Given the description of an element on the screen output the (x, y) to click on. 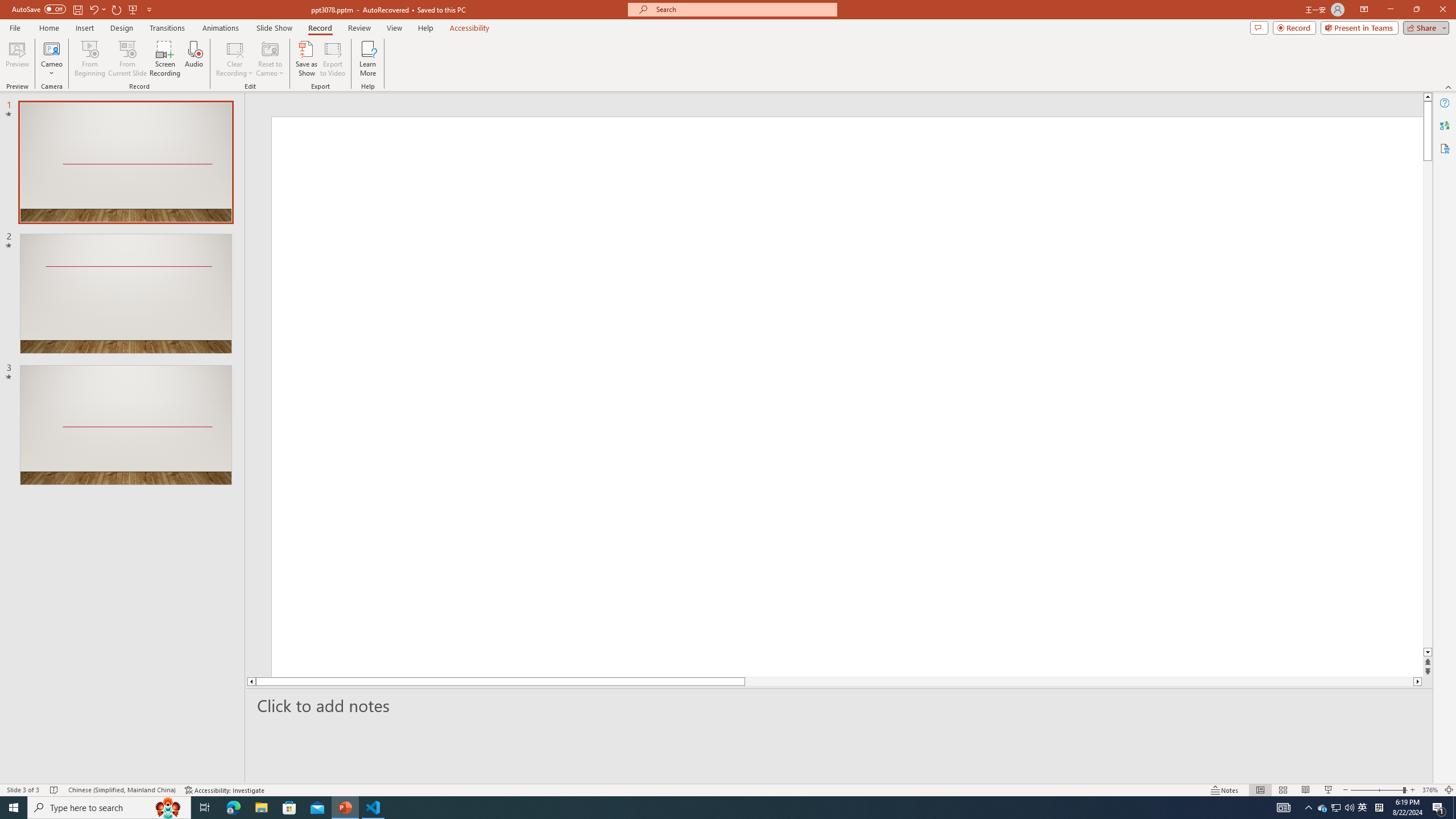
Export to Video (332, 58)
From Current Slide... (127, 58)
Slide (125, 425)
Audio (193, 58)
Microsoft search (742, 9)
An abstract genetic concept (834, 395)
